Given the description of an element on the screen output the (x, y) to click on. 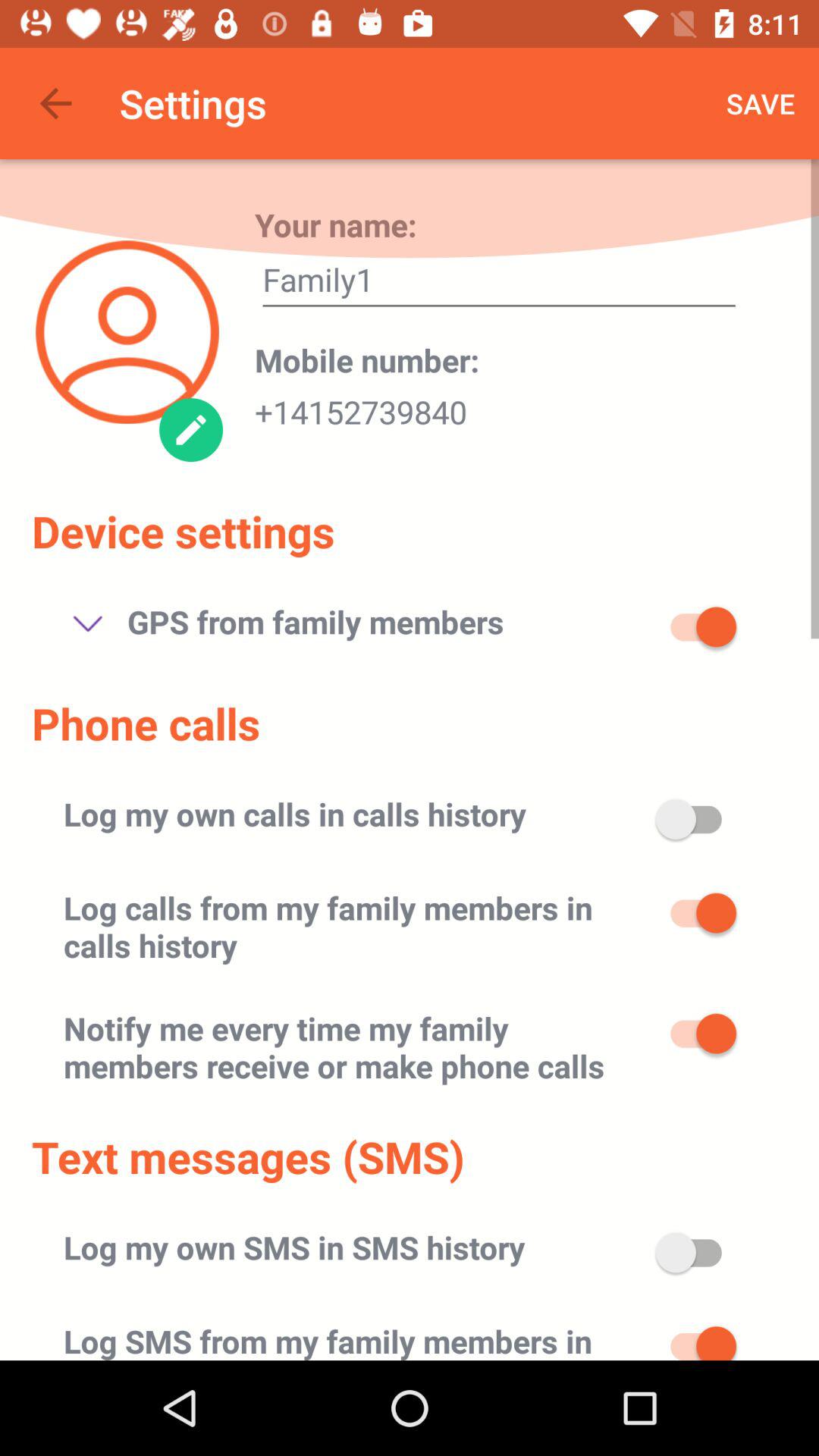
open the +14152739840 (360, 407)
